Given the description of an element on the screen output the (x, y) to click on. 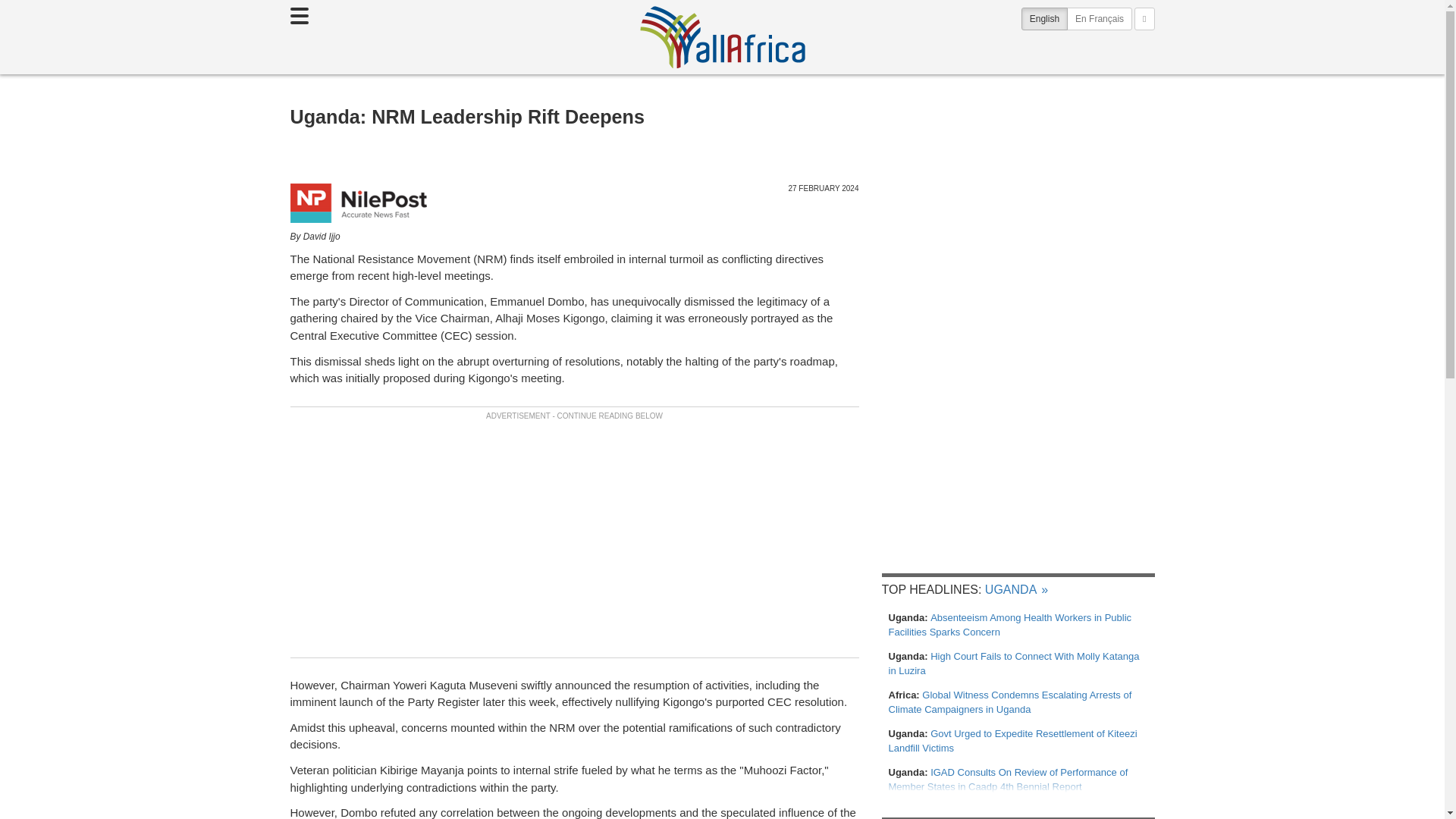
UGANDA (1016, 589)
Toggle navigation (298, 15)
AllAfrica (722, 36)
High Court Fails to Connect With Molly Katanga in Luzira (1018, 663)
